Given the description of an element on the screen output the (x, y) to click on. 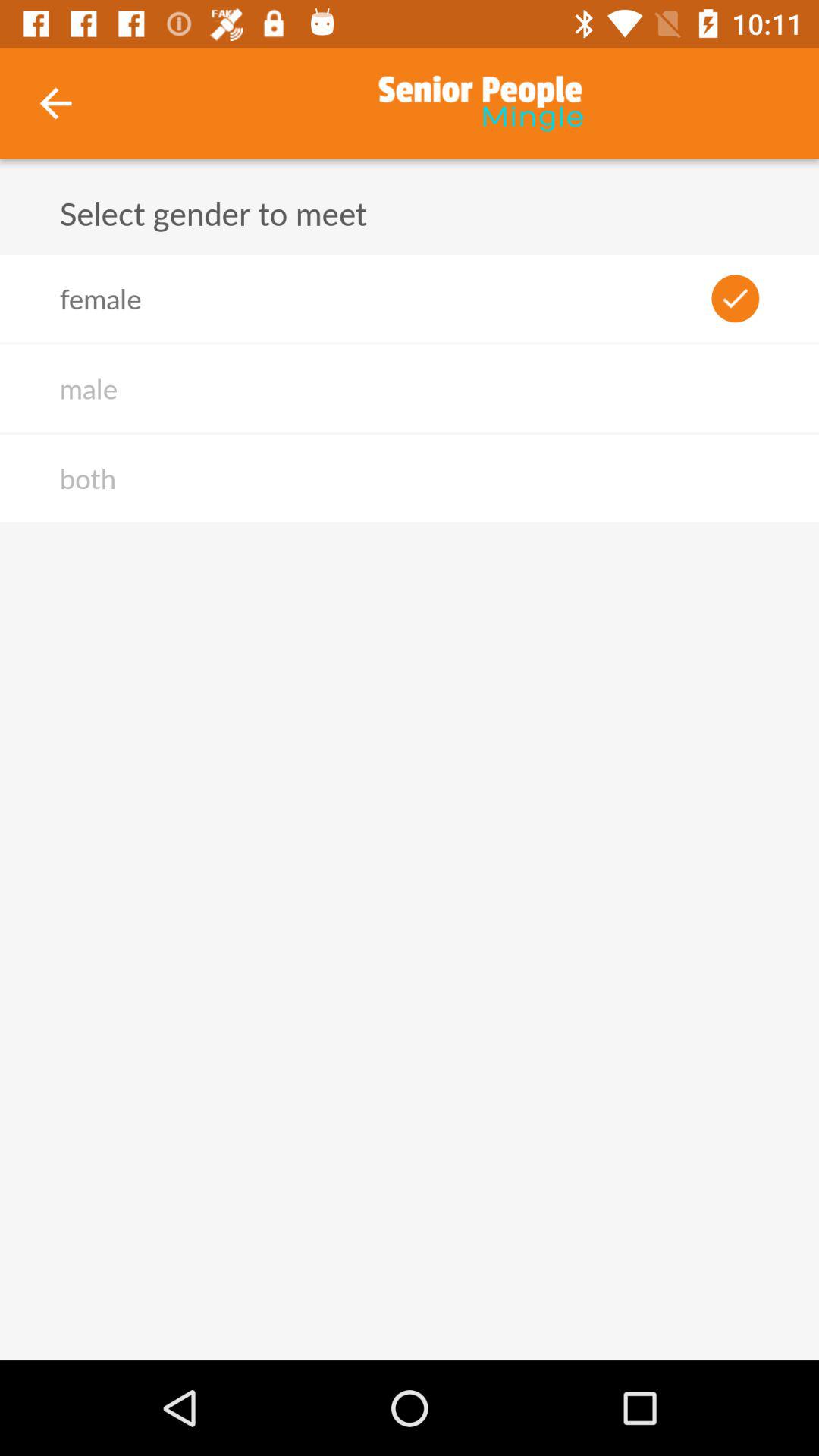
turn on the male icon (88, 388)
